Given the description of an element on the screen output the (x, y) to click on. 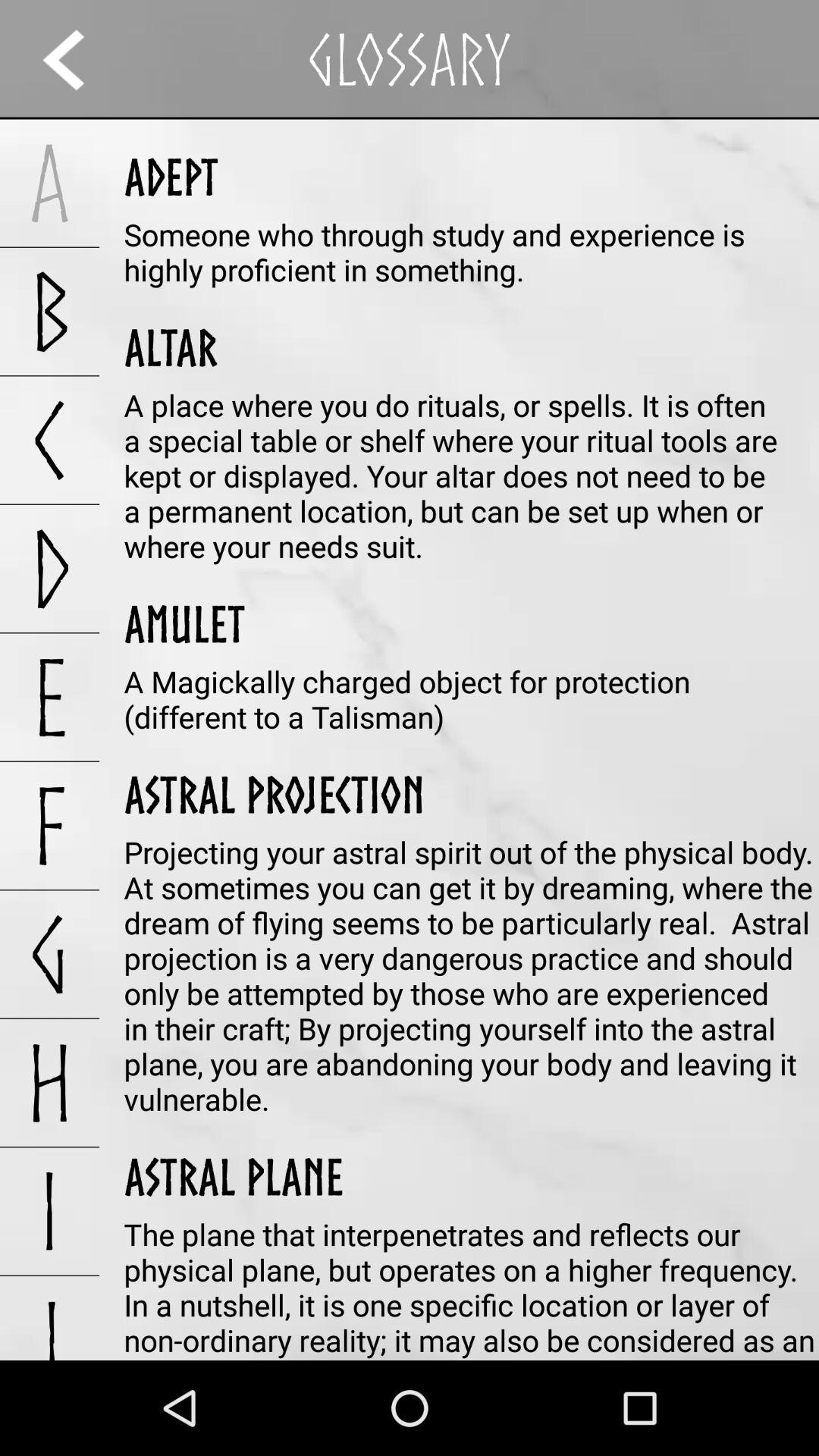
jump until the someone who through item (471, 252)
